Given the description of an element on the screen output the (x, y) to click on. 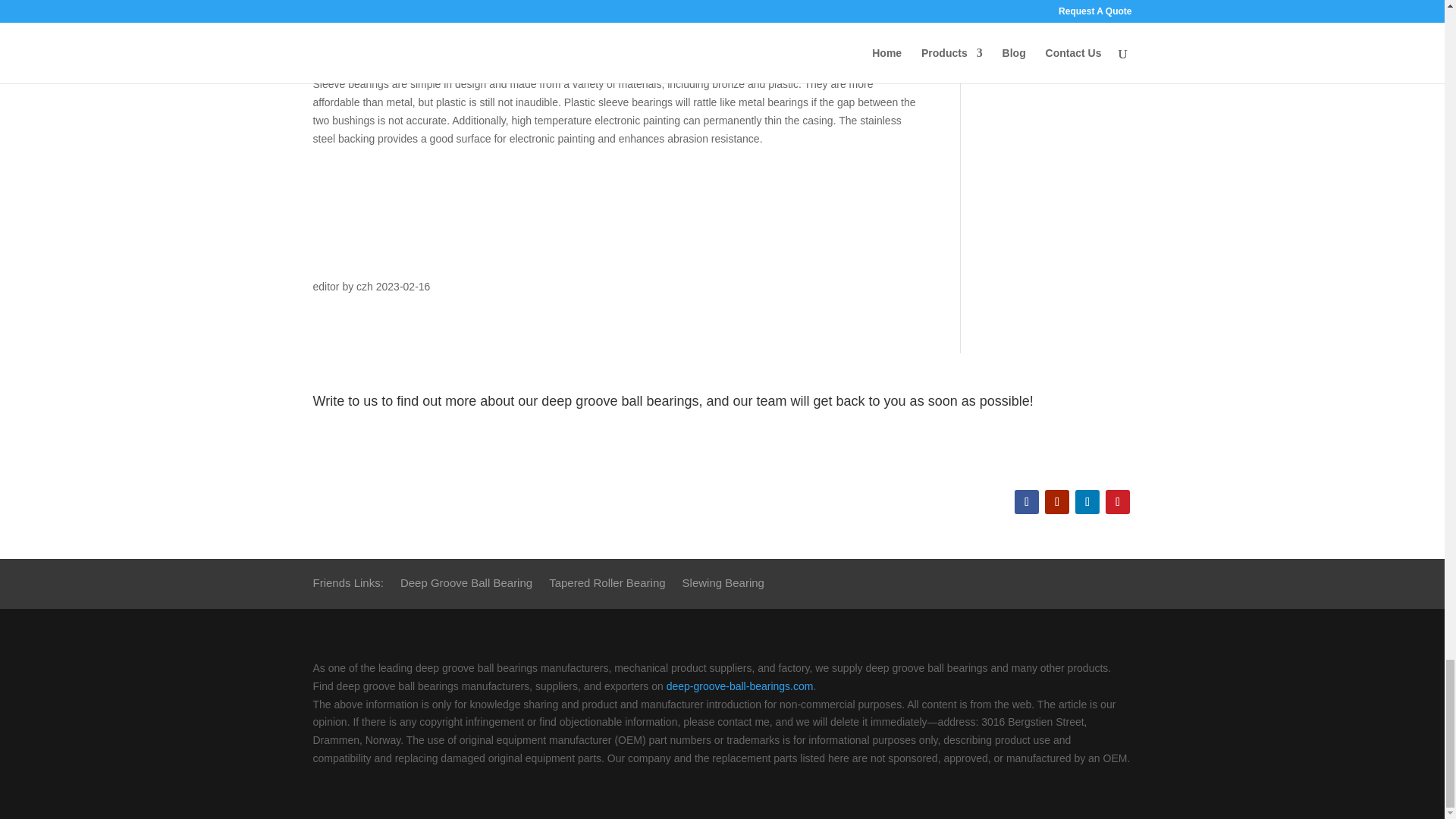
Follow on Youtube (1056, 501)
Follow on Pinterest (1117, 501)
Follow on Facebook (1026, 501)
Follow on LinkedIn (1087, 501)
